Given the description of an element on the screen output the (x, y) to click on. 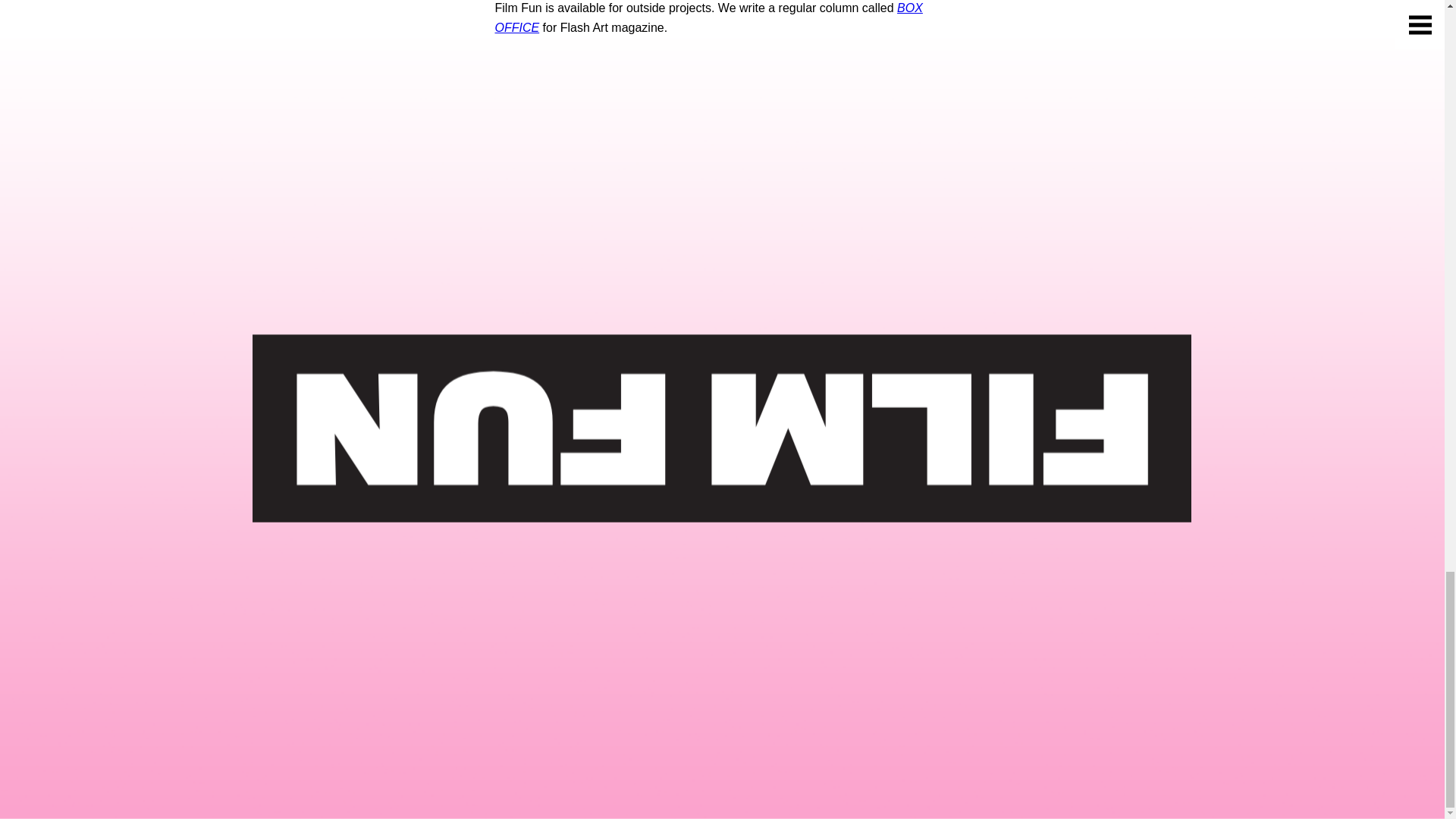
BOX OFFICE (708, 17)
